Given the description of an element on the screen output the (x, y) to click on. 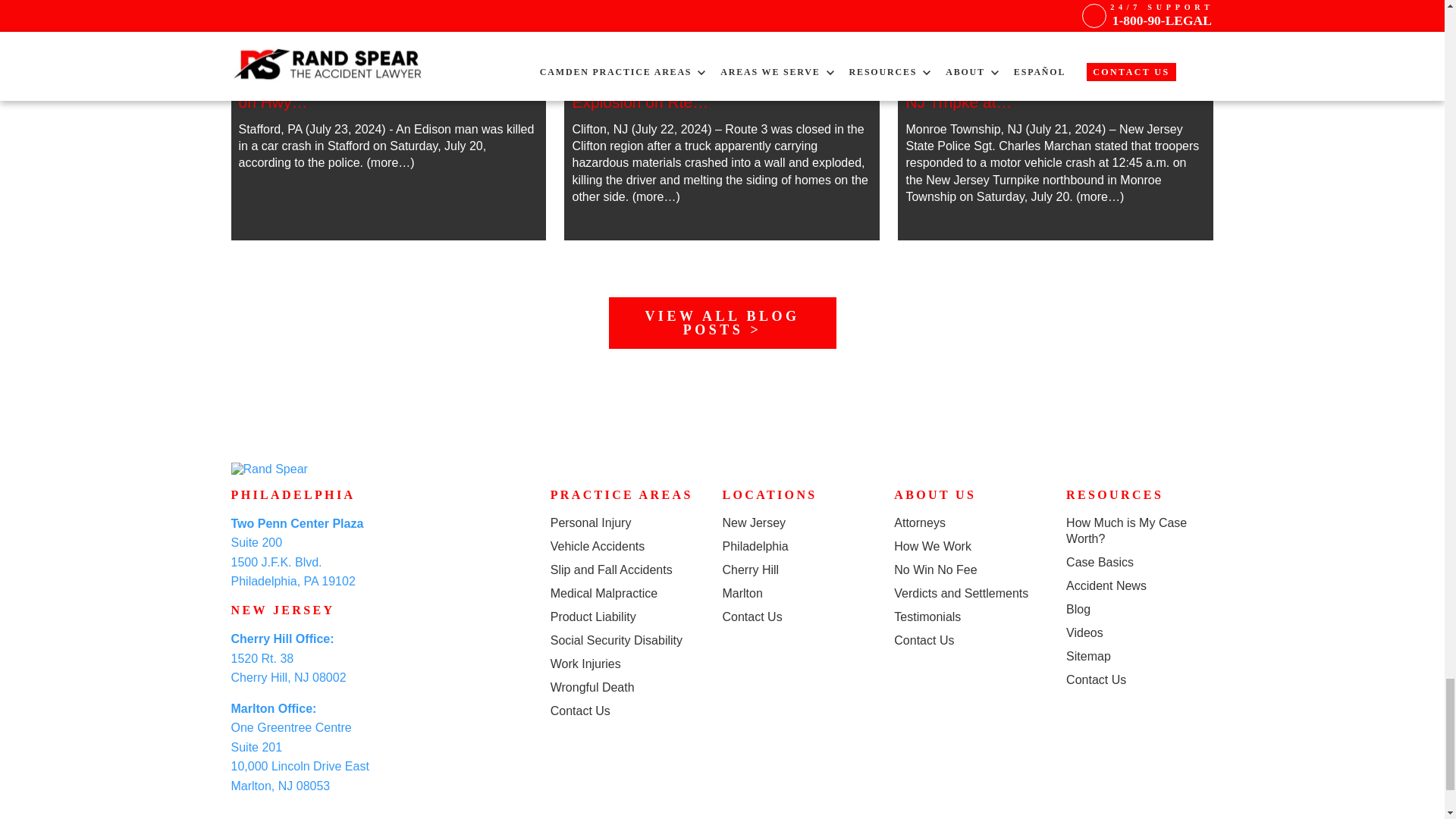
READ MORE (1055, 46)
READ MORE (388, 46)
READ MORE (722, 46)
READ MORE (722, 93)
READ MORE (388, 93)
